Given the description of an element on the screen output the (x, y) to click on. 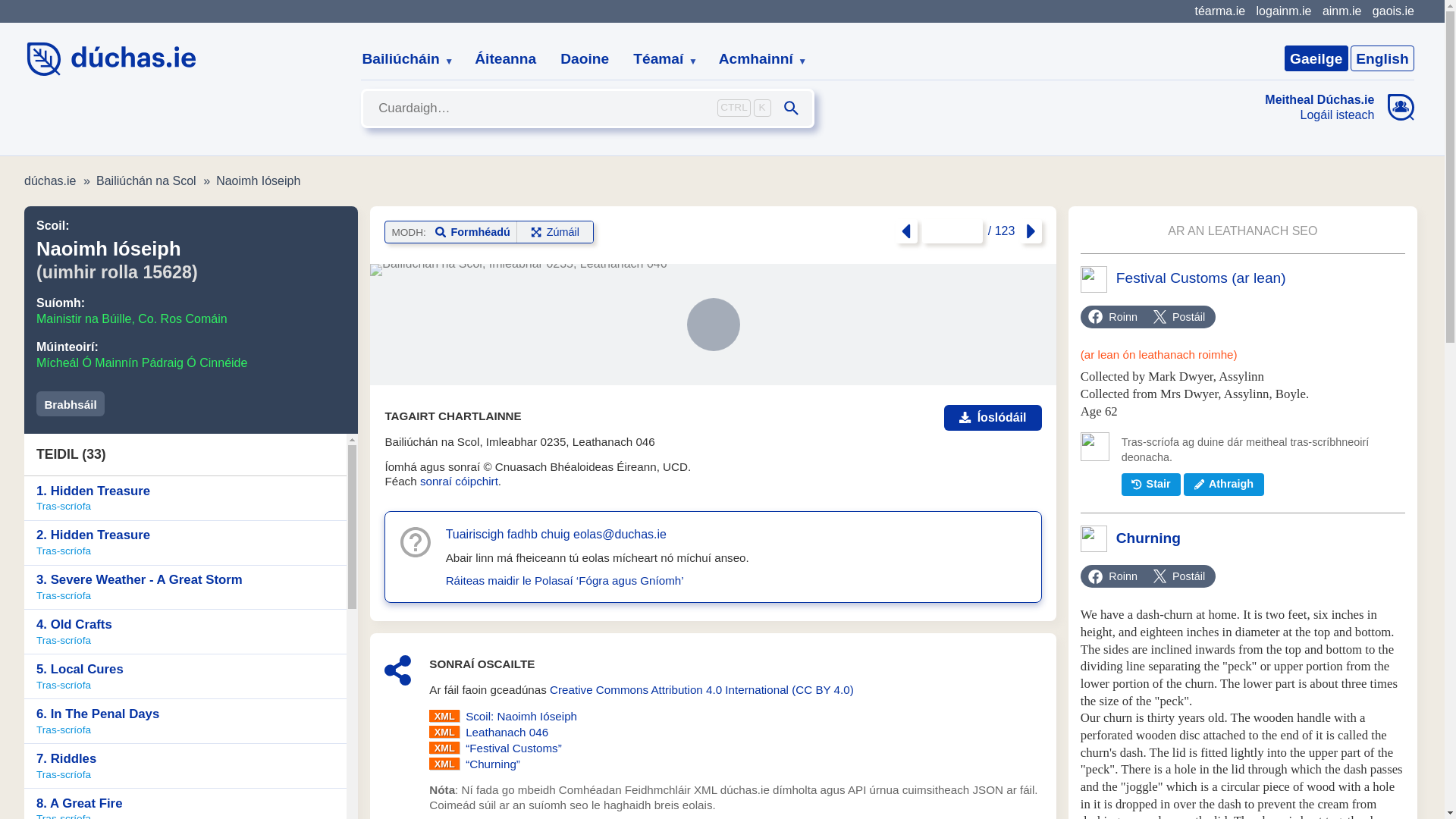
Daoine (584, 58)
English (1382, 58)
logainm.ie (1283, 11)
Gaeilge (1316, 58)
ainm.ie (1341, 11)
gaois.ie (1393, 11)
